Given the description of an element on the screen output the (x, y) to click on. 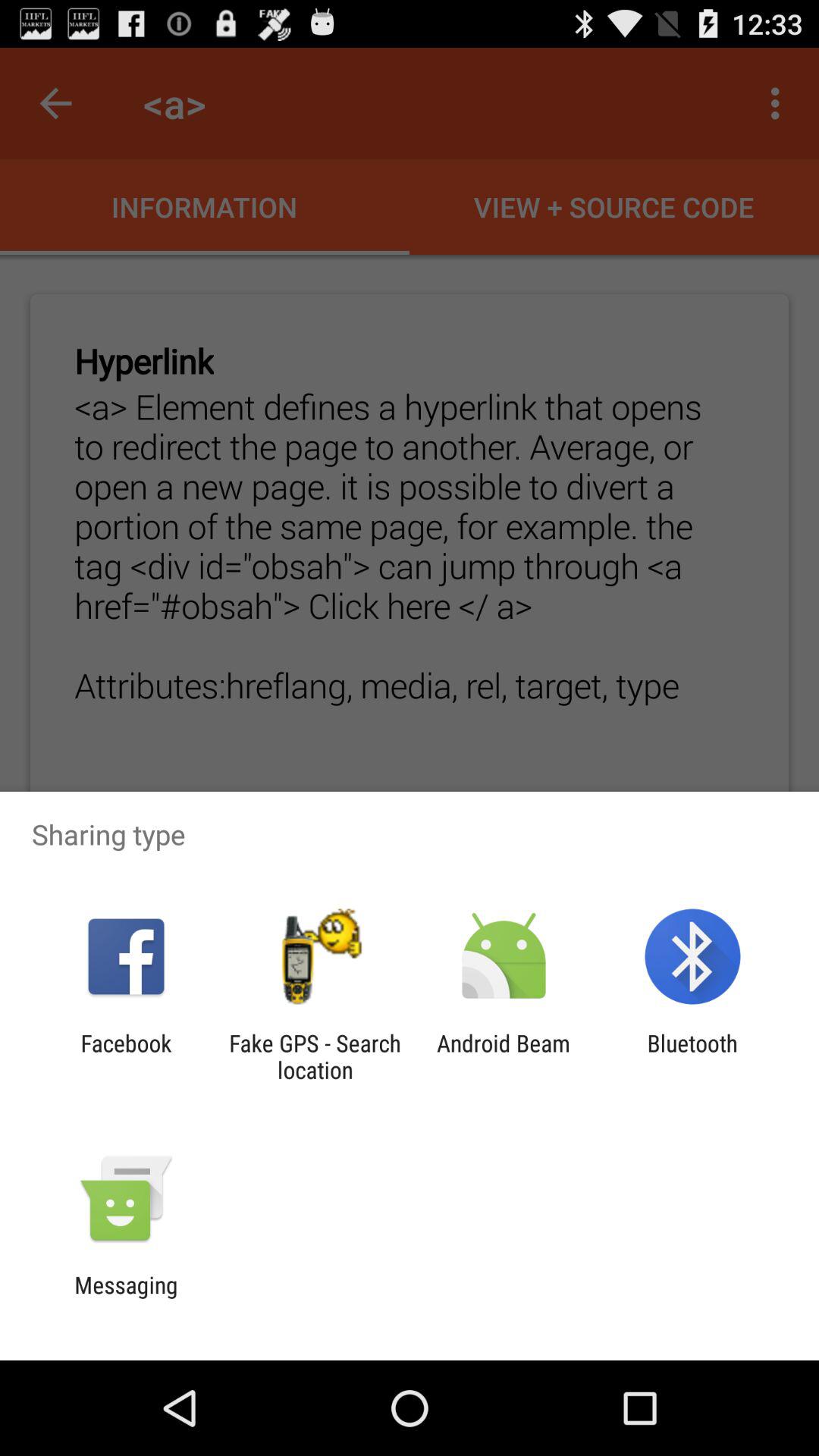
swipe to facebook (125, 1056)
